Given the description of an element on the screen output the (x, y) to click on. 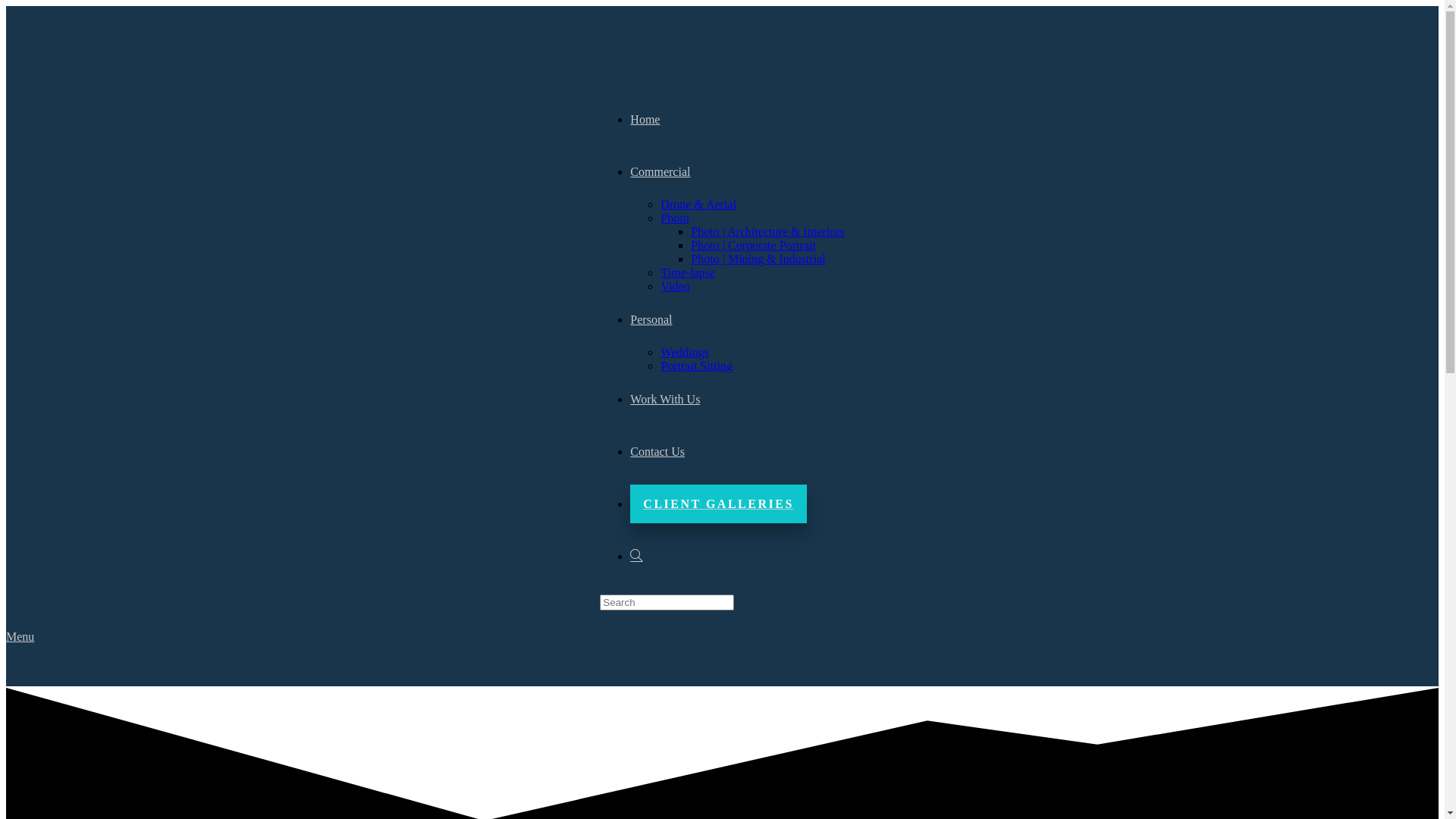
Photo | Corporate Portrait Element type: text (752, 244)
Time-lapse Element type: text (687, 272)
Photo | Mining & Industrial Element type: text (757, 258)
Work With Us Element type: text (664, 398)
Photo | Architecture & Interiors Element type: text (767, 231)
Portrait Sitting Element type: text (696, 365)
Drone & Aerial Element type: text (698, 203)
CLIENT GALLERIES Element type: text (718, 503)
Weddings Element type: text (684, 351)
Commercial Element type: text (660, 171)
Home Element type: text (644, 118)
Personal Element type: text (650, 319)
Contact Us Element type: text (657, 451)
Menu Element type: text (20, 636)
Photo Element type: text (674, 217)
Video Element type: text (674, 285)
